Given the description of an element on the screen output the (x, y) to click on. 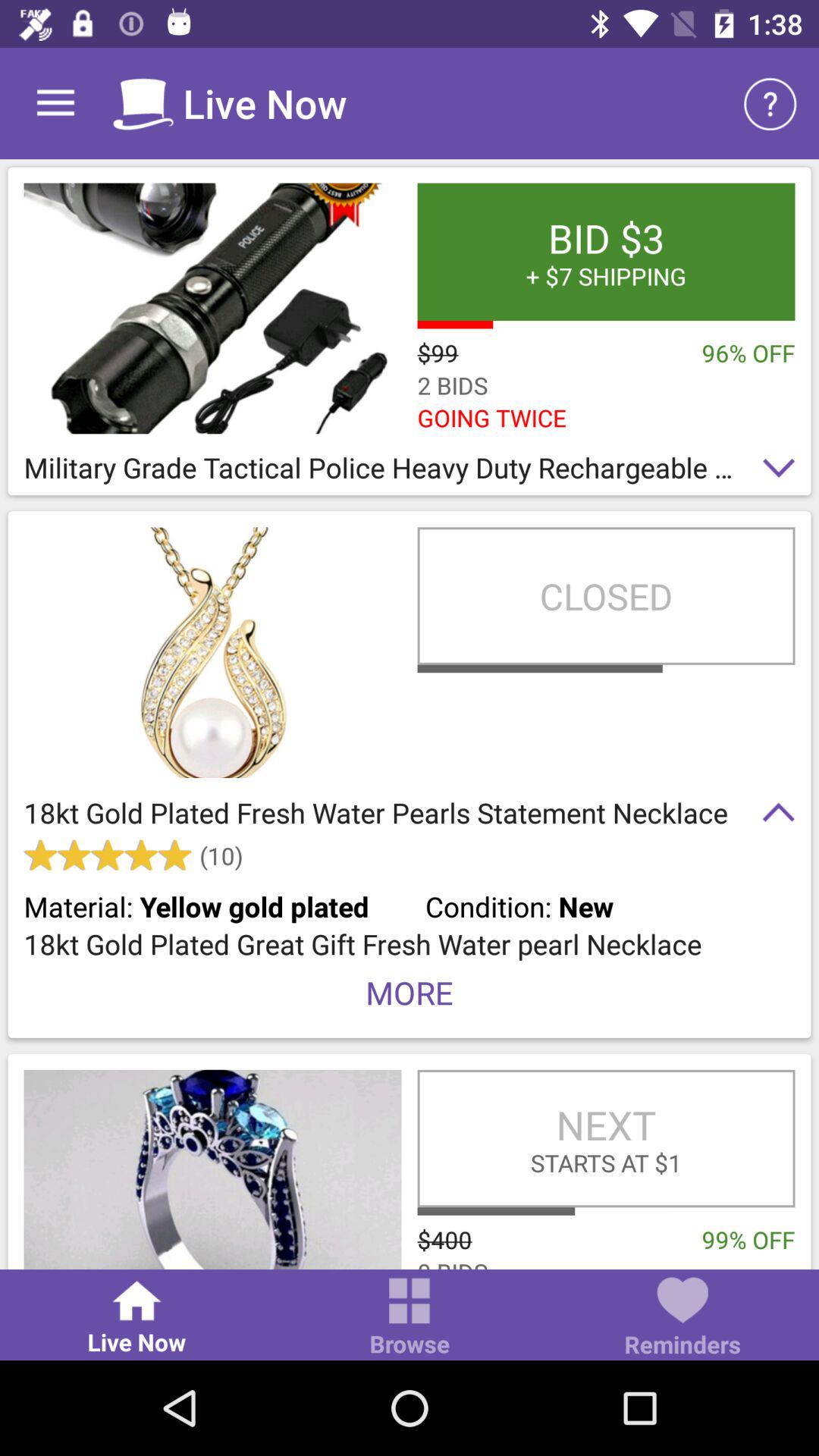
turn off item below the military grade tactical icon (606, 595)
